Given the description of an element on the screen output the (x, y) to click on. 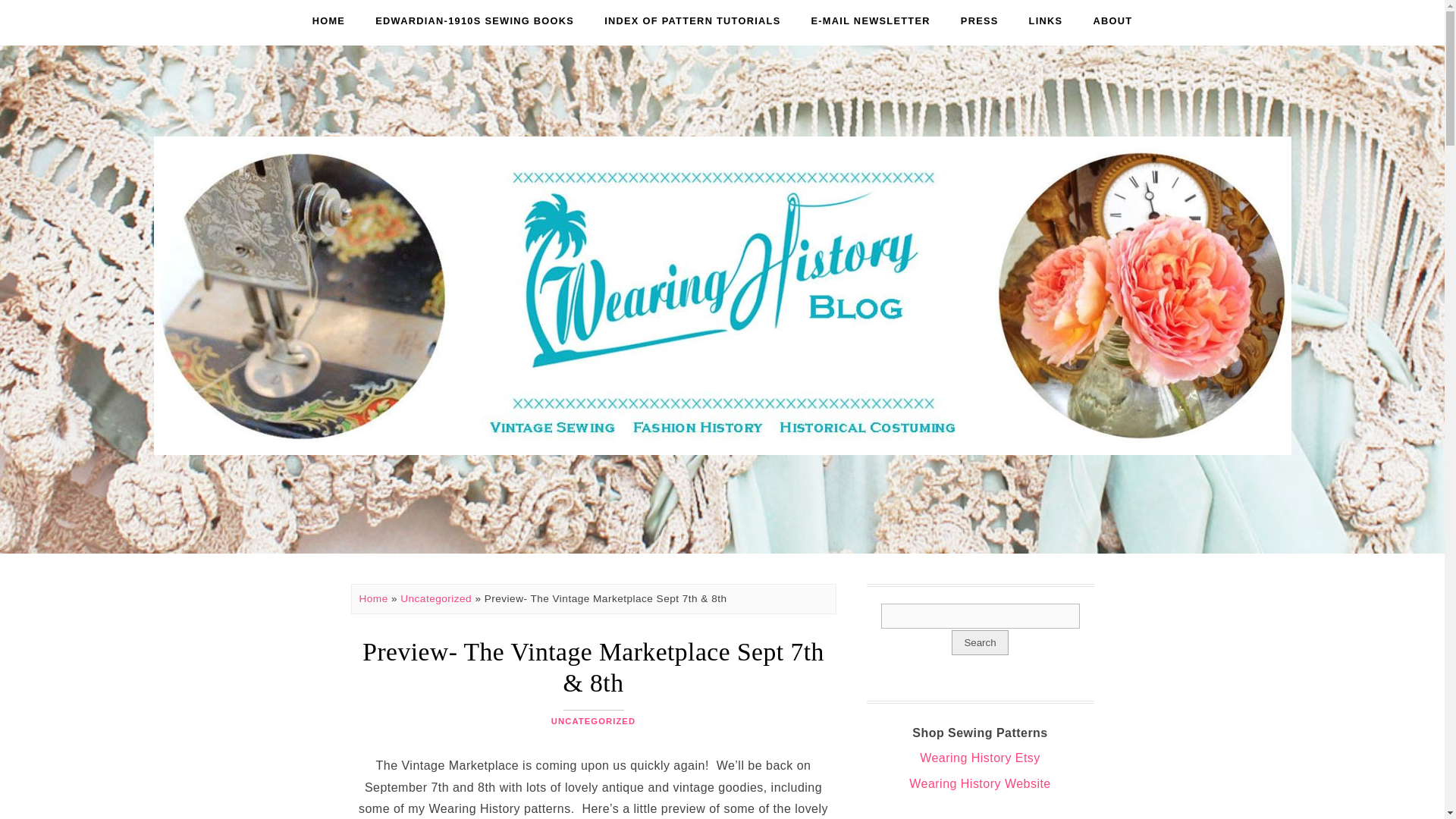
Search (980, 615)
Wearing History Etsy (980, 757)
E-MAIL NEWSLETTER (870, 21)
Wearing History Website (979, 783)
Search (979, 642)
Home (373, 598)
INDEX OF PATTERN TUTORIALS (691, 21)
UNCATEGORIZED (592, 720)
ABOUT (1112, 21)
LINKS (1045, 21)
